Given the description of an element on the screen output the (x, y) to click on. 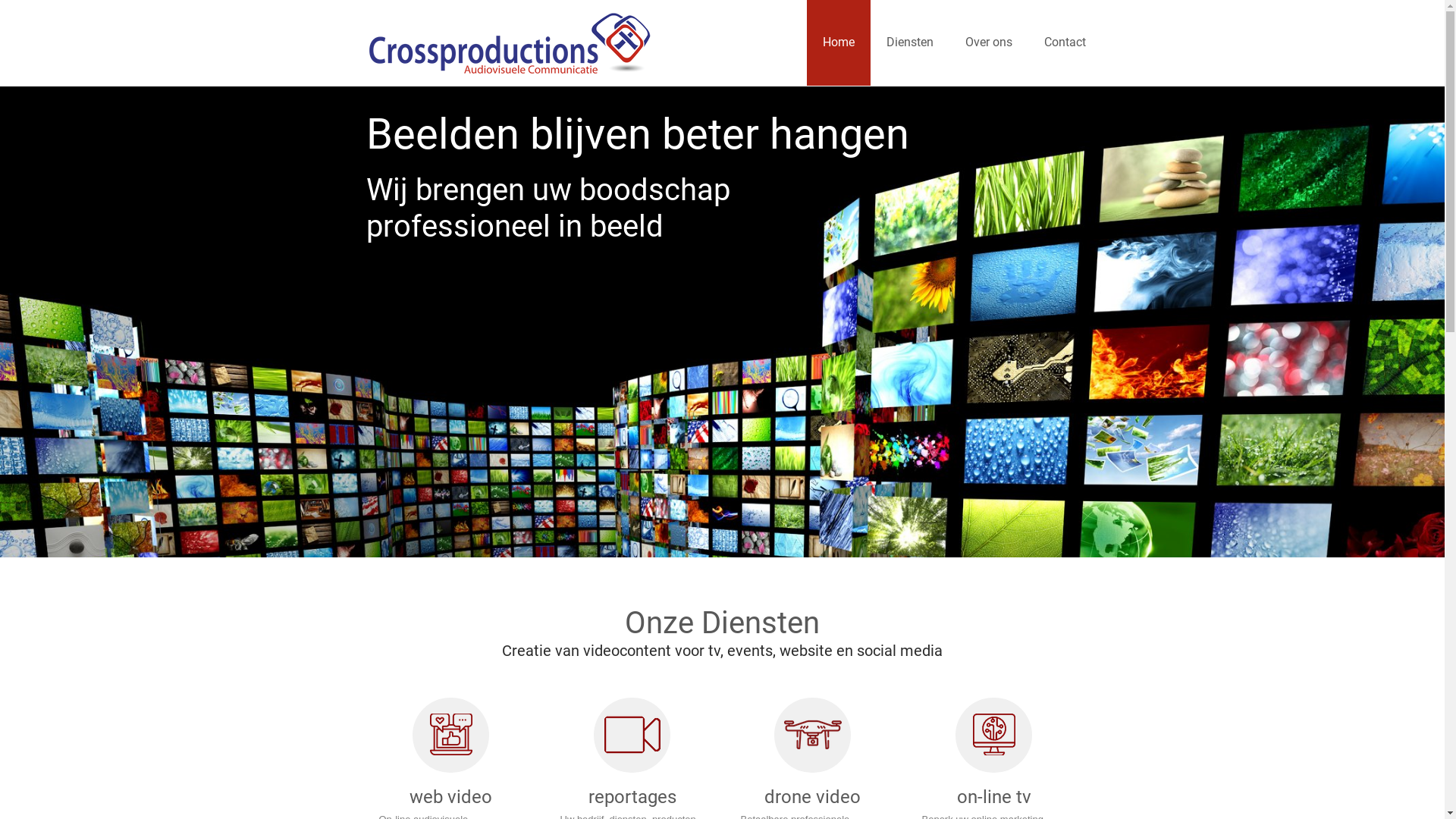
Contact Element type: text (1064, 42)
Over ons Element type: text (988, 42)
Home Element type: text (838, 42)
Diensten Element type: text (909, 42)
